Given the description of an element on the screen output the (x, y) to click on. 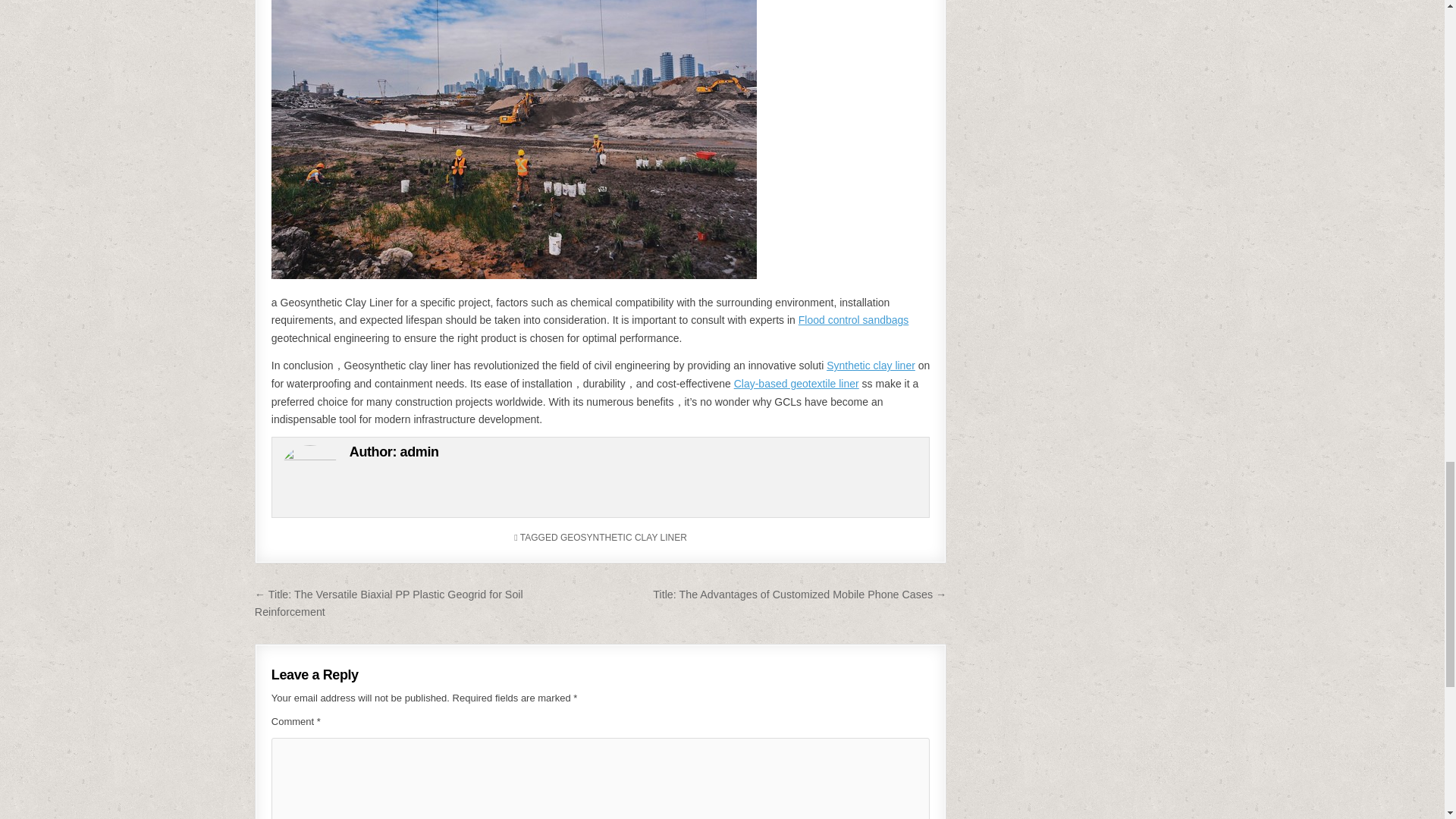
Flood control sandbags (852, 319)
Synthetic clay liner (871, 365)
Clay-based geotextile liner (796, 383)
GEOSYNTHETIC CLAY LINER (623, 537)
admin (419, 451)
